Given the description of an element on the screen output the (x, y) to click on. 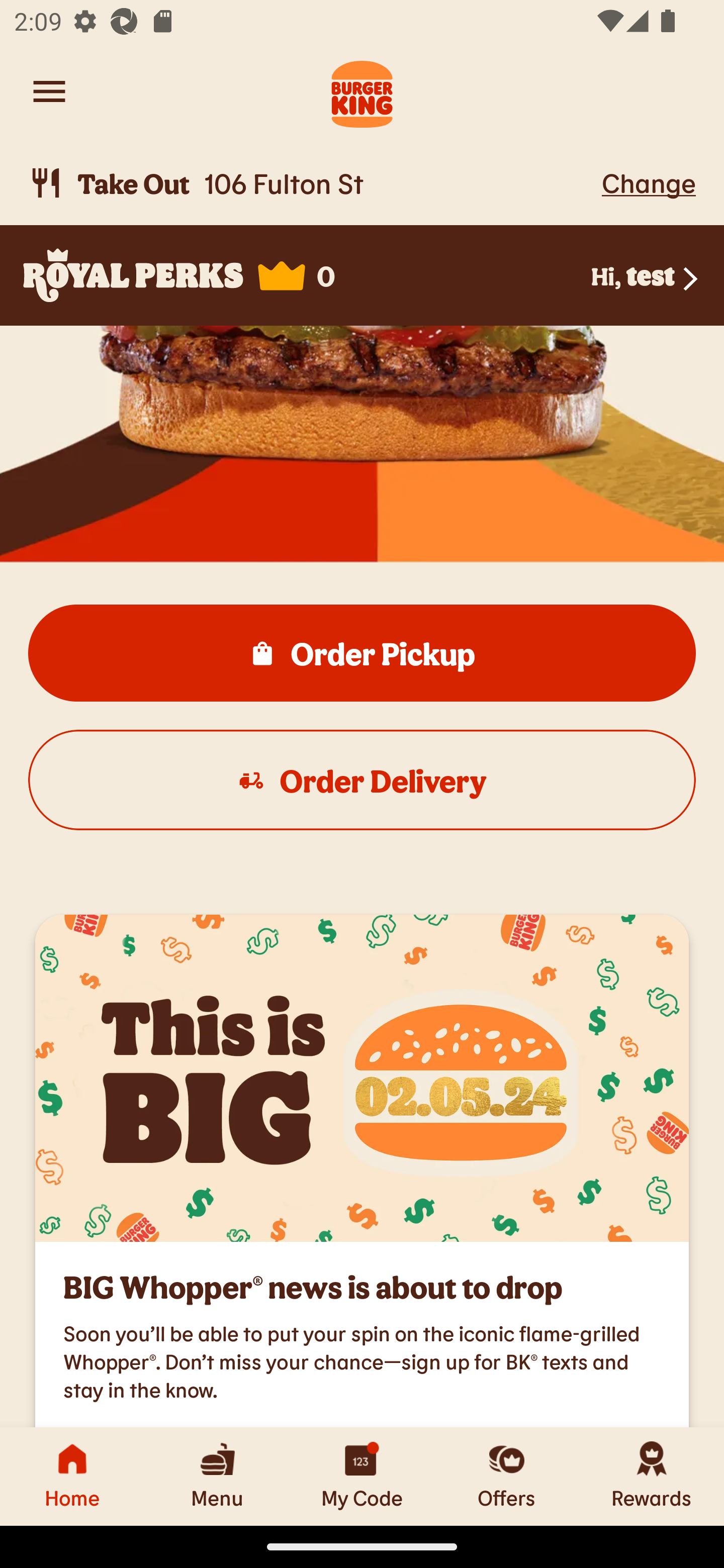
Burger King Logo. Navigate to Home (362, 91)
Navigate to account menu  (49, 91)
Take Out, 106 Fulton St  Take Out 106 Fulton St (311, 183)
Change (648, 182)
, Order Pickup  Order Pickup (361, 652)
, Order Delivery  Order Delivery (361, 779)
MDW Teaser Auth App (361, 1077)
Home (72, 1475)
Menu (216, 1475)
My Code (361, 1475)
Offers (506, 1475)
Rewards (651, 1475)
